Given the description of an element on the screen output the (x, y) to click on. 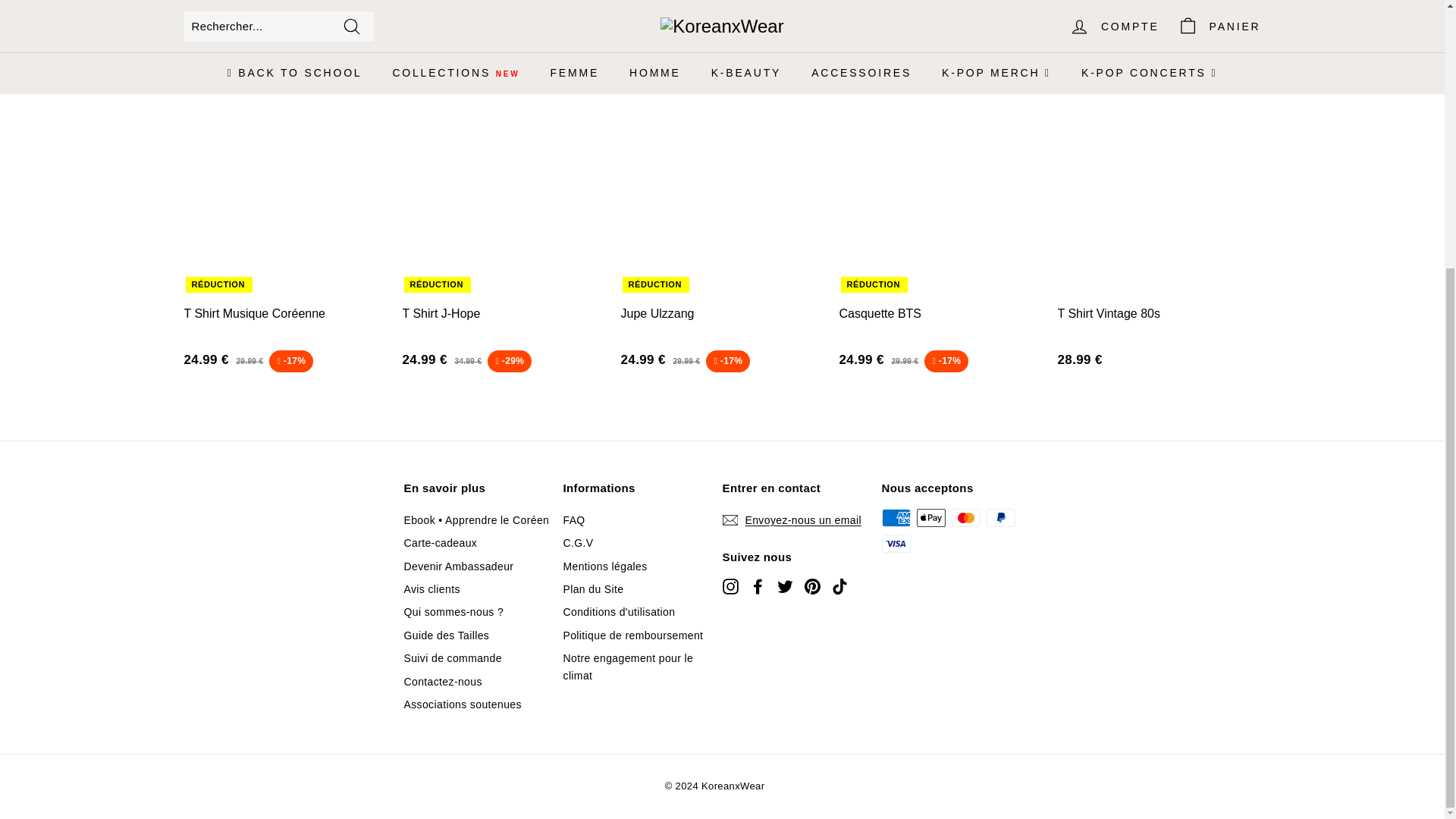
KoreanxWear sur Facebook (757, 586)
Apple Pay (929, 517)
PayPal (999, 517)
American Express (895, 517)
Mastercard (964, 517)
Visa (895, 543)
KoreanxWear sur Twitter (784, 586)
KoreanxWear sur TikTok (839, 586)
KoreanxWear sur Pinterest (811, 586)
KoreanxWear sur Instagram (730, 586)
